Given the description of an element on the screen output the (x, y) to click on. 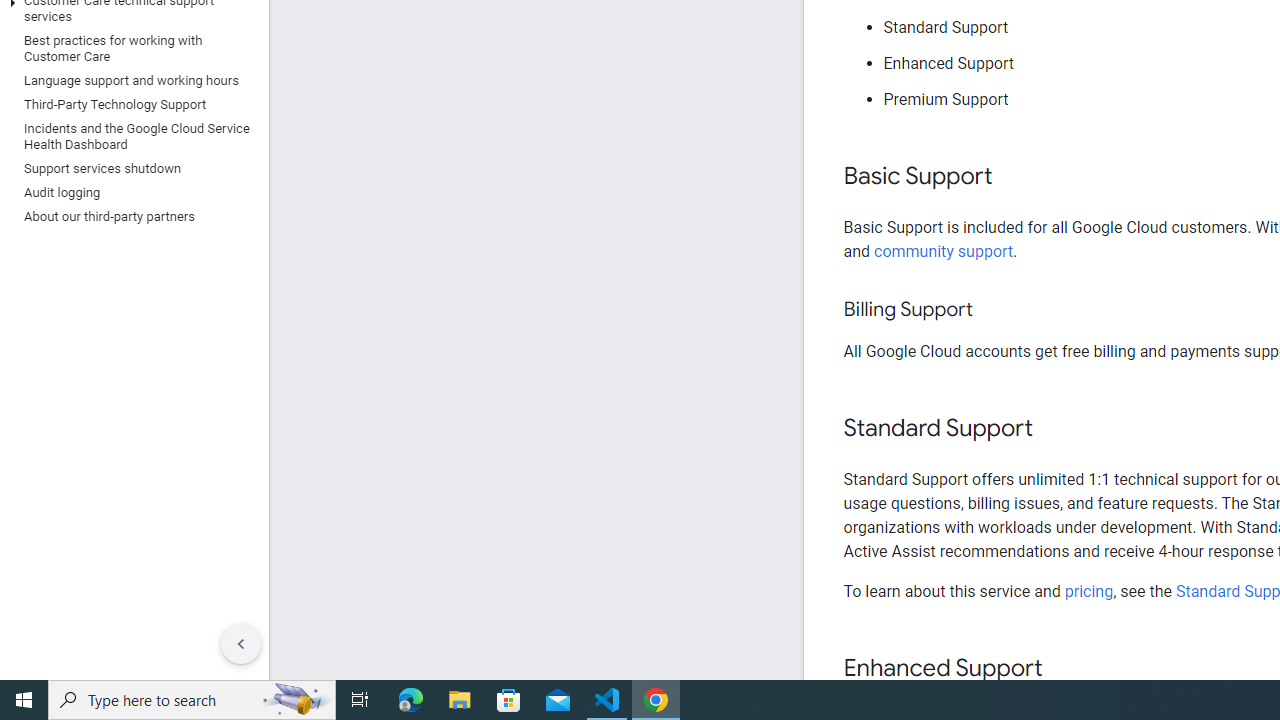
community support (943, 250)
pricing (1088, 591)
Hide side navigation (241, 643)
Incidents and the Google Cloud Service Health Dashboard (130, 136)
Support services shutdown (130, 168)
Copy link to this section: Billing Support (991, 310)
Language support and working hours (130, 80)
Audit logging (130, 192)
Best practices for working with Customer Care (130, 48)
Copy link to this section: Standard Support (1052, 429)
About our third-party partners (130, 216)
Third-Party Technology Support (130, 104)
Copy link to this section: Enhanced Support (1061, 668)
Copy link to this section: Basic Support (1012, 177)
